Given the description of an element on the screen output the (x, y) to click on. 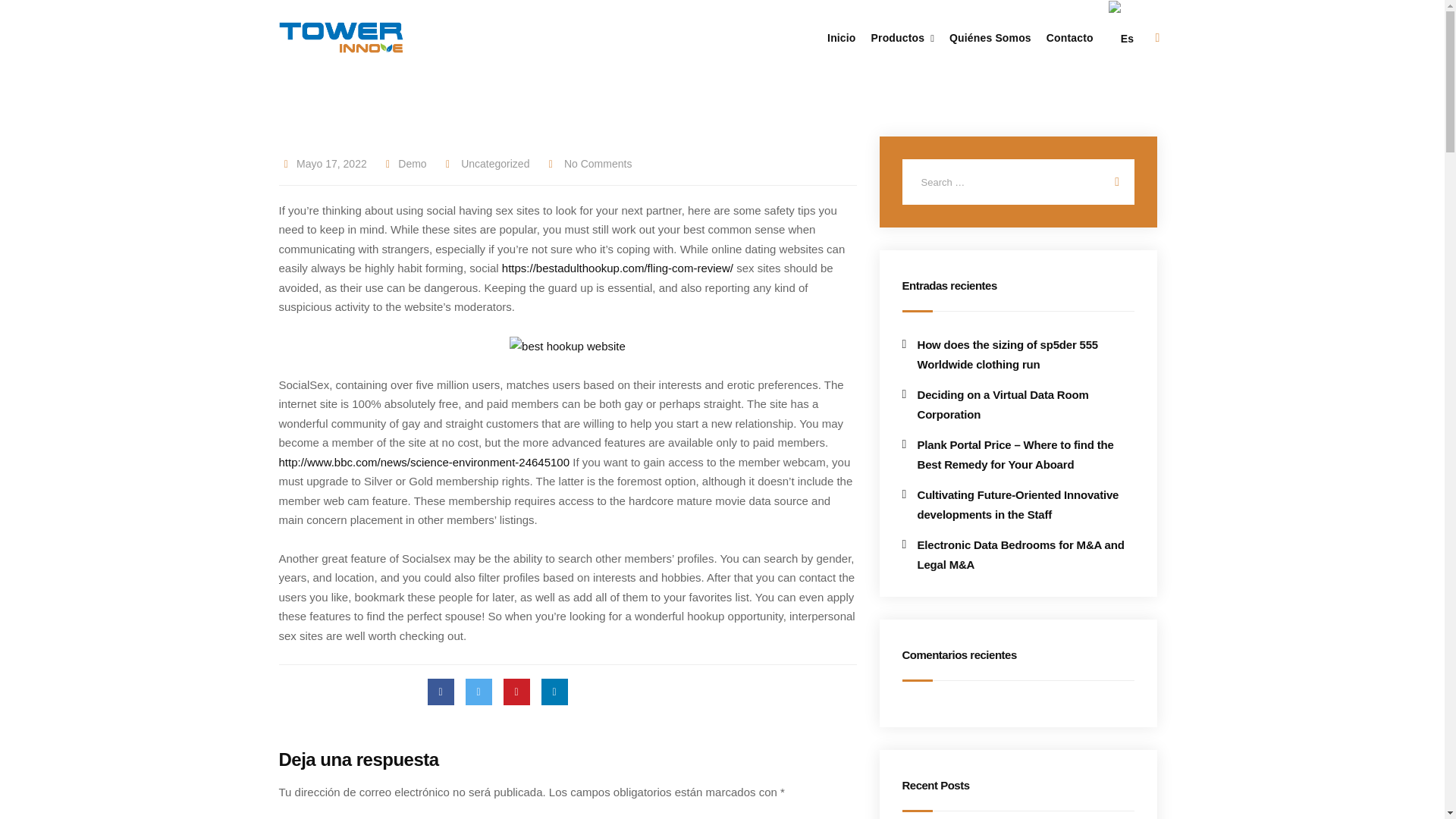
Share on LinkedIn (554, 691)
Share on Facebook (441, 691)
Share on Twitter (478, 691)
Tower Innove S.L (341, 37)
Share on Pinterest (516, 691)
How does the sizing of sp5der 555 Worldwide clothing run (1018, 353)
Deciding on a Virtual Data Room Corporation (1018, 404)
Demo (403, 163)
Mayo 17, 2022 (331, 163)
